Given the description of an element on the screen output the (x, y) to click on. 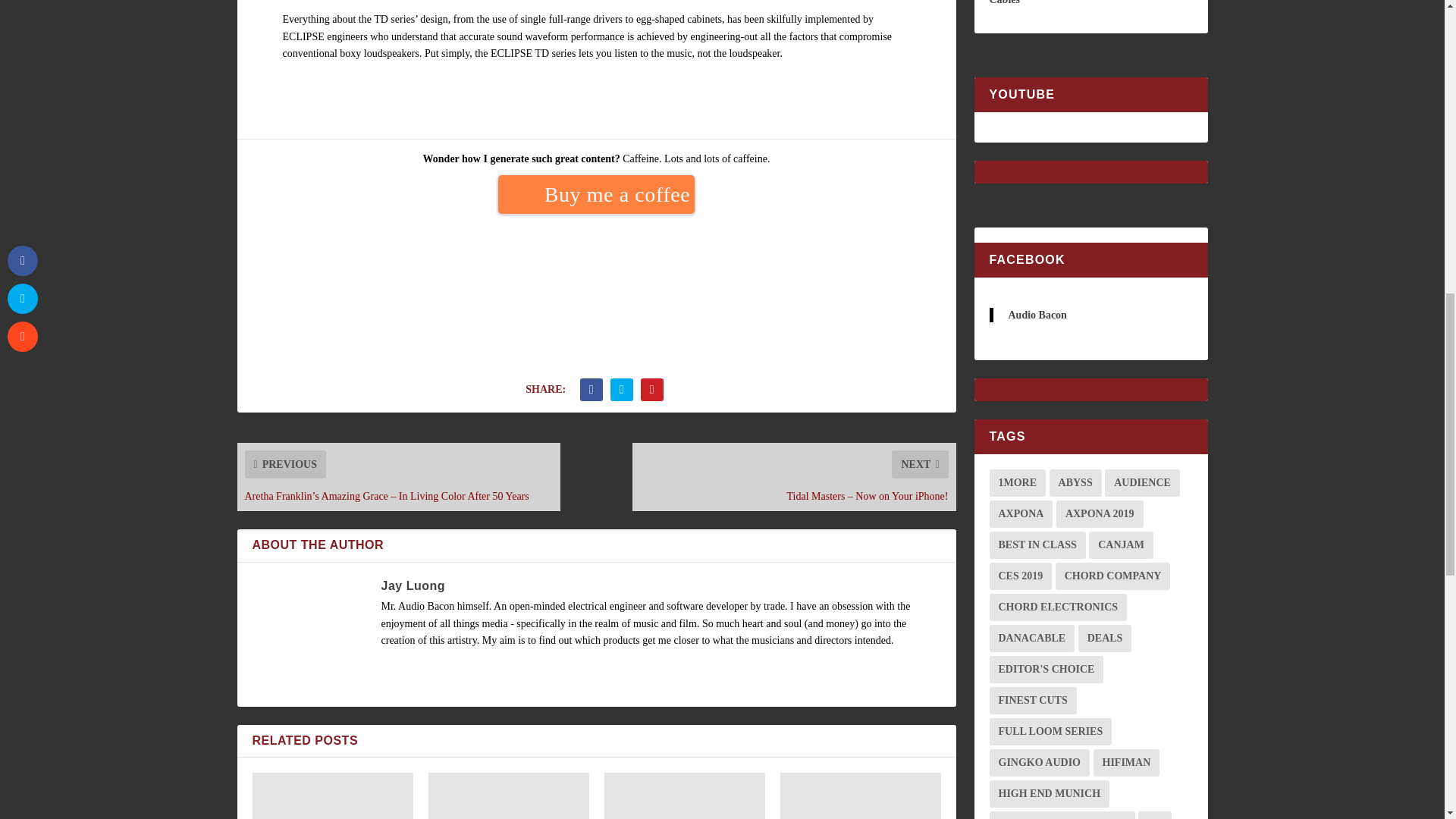
View all posts by Jay Luong (412, 585)
HSU Research CCB-8 Bookshelf Speakers Review (508, 796)
Finest Cuts in The Absolute Sound February Issue! (331, 796)
Linkin Park Singer, Chester Bennington, Dead at 41 (684, 796)
